Given the description of an element on the screen output the (x, y) to click on. 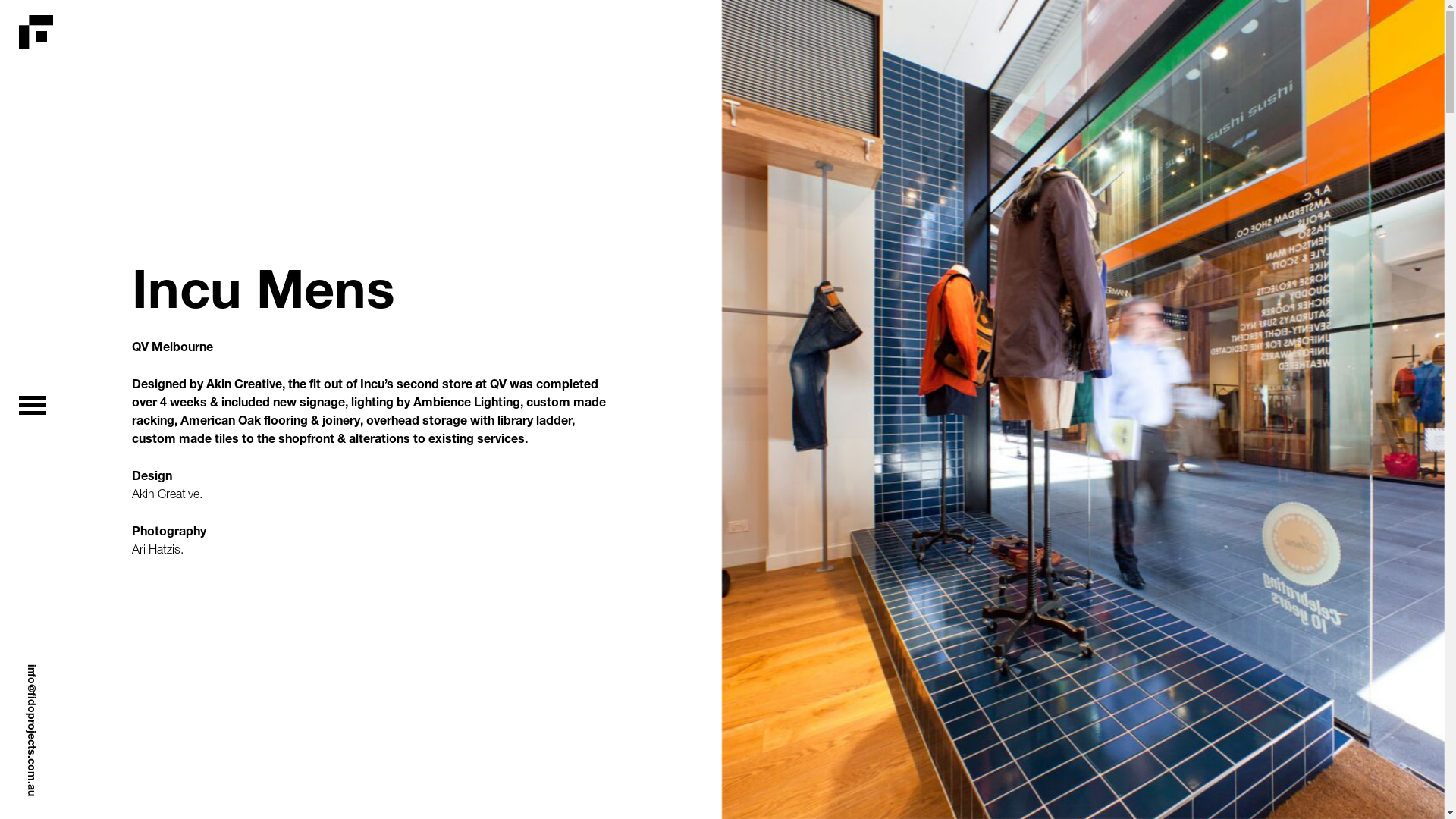
info@fidoprojects.com.au Element type: text (92, 669)
